Given the description of an element on the screen output the (x, y) to click on. 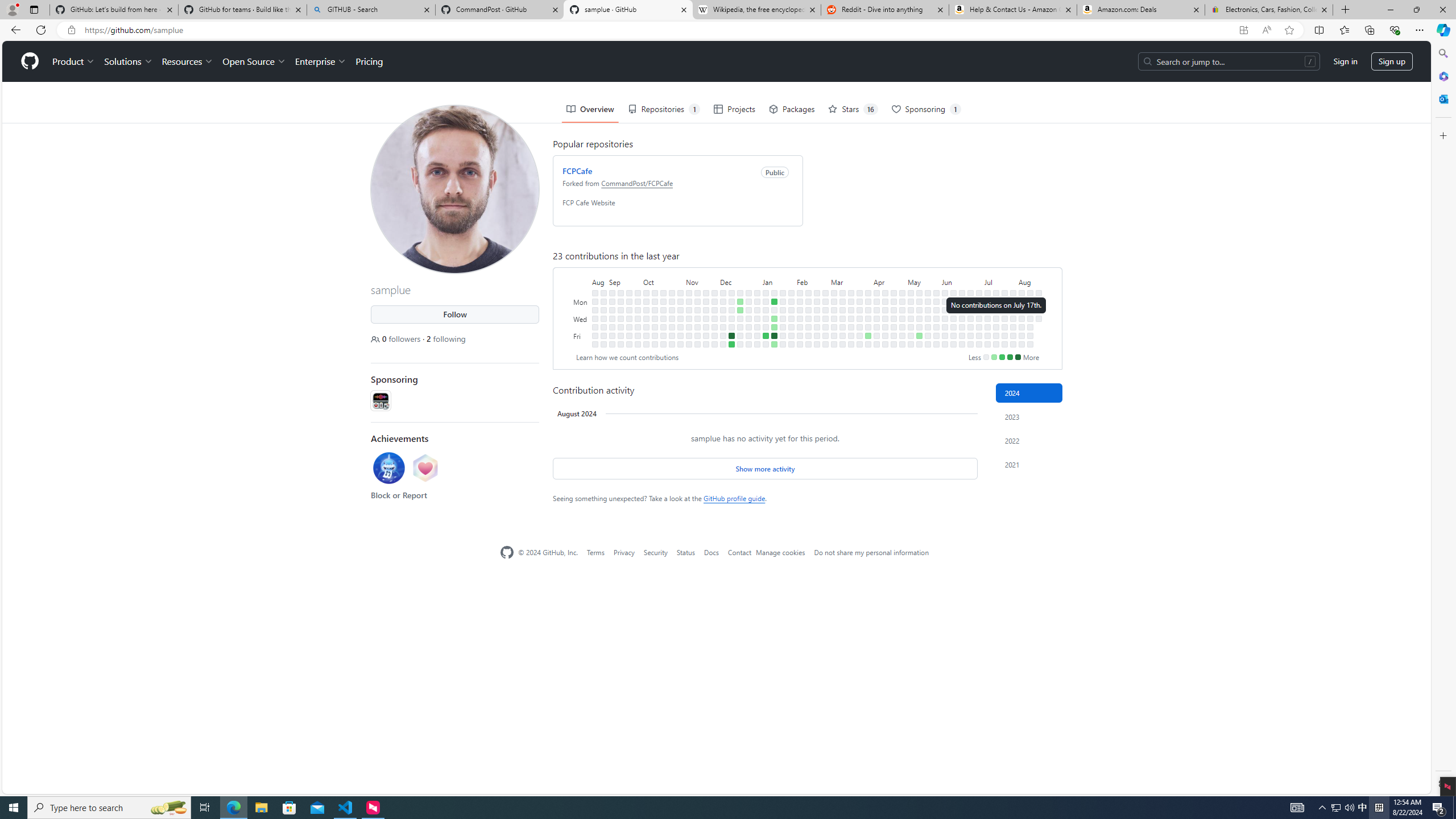
No contributions on September 23rd. (628, 343)
No contributions on December 17th. (740, 292)
No contributions on November 18th. (697, 343)
No contributions on October 14th. (655, 343)
No contributions on June 23rd. (970, 292)
No contributions on September 18th. (628, 301)
No contributions on May 1st. (902, 318)
No contributions on July 1st. (978, 301)
GitHub profile guide (734, 497)
No contributions on March 31st. (867, 292)
No contributions on October 31st. (680, 309)
No contributions on June 5th. (944, 318)
No contributions on July 16th. (995, 309)
No contributions on August 23rd. (595, 318)
No contributions on October 5th. (646, 326)
